Given the description of an element on the screen output the (x, y) to click on. 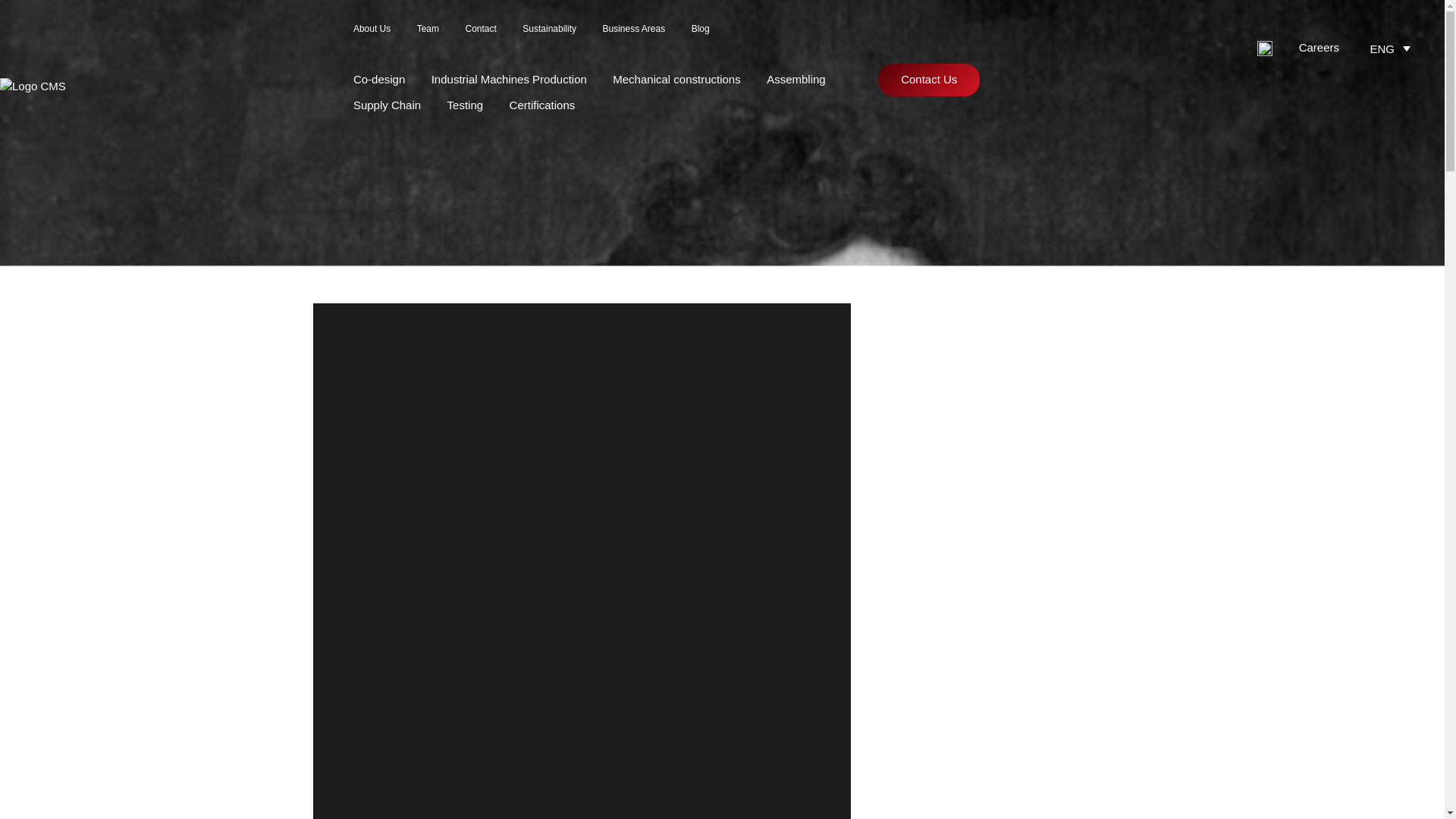
ENG (1391, 47)
About Us (371, 28)
Certifications (542, 104)
Testing (464, 104)
Assembling (796, 78)
Contact (480, 28)
Careers (1318, 47)
Business Areas (633, 28)
Mechanical constructions (675, 78)
Blog (700, 28)
Industrial Machines Production (508, 78)
Team (427, 28)
Contact Us (928, 79)
Sustainability (549, 28)
Supply Chain (386, 104)
